Given the description of an element on the screen output the (x, y) to click on. 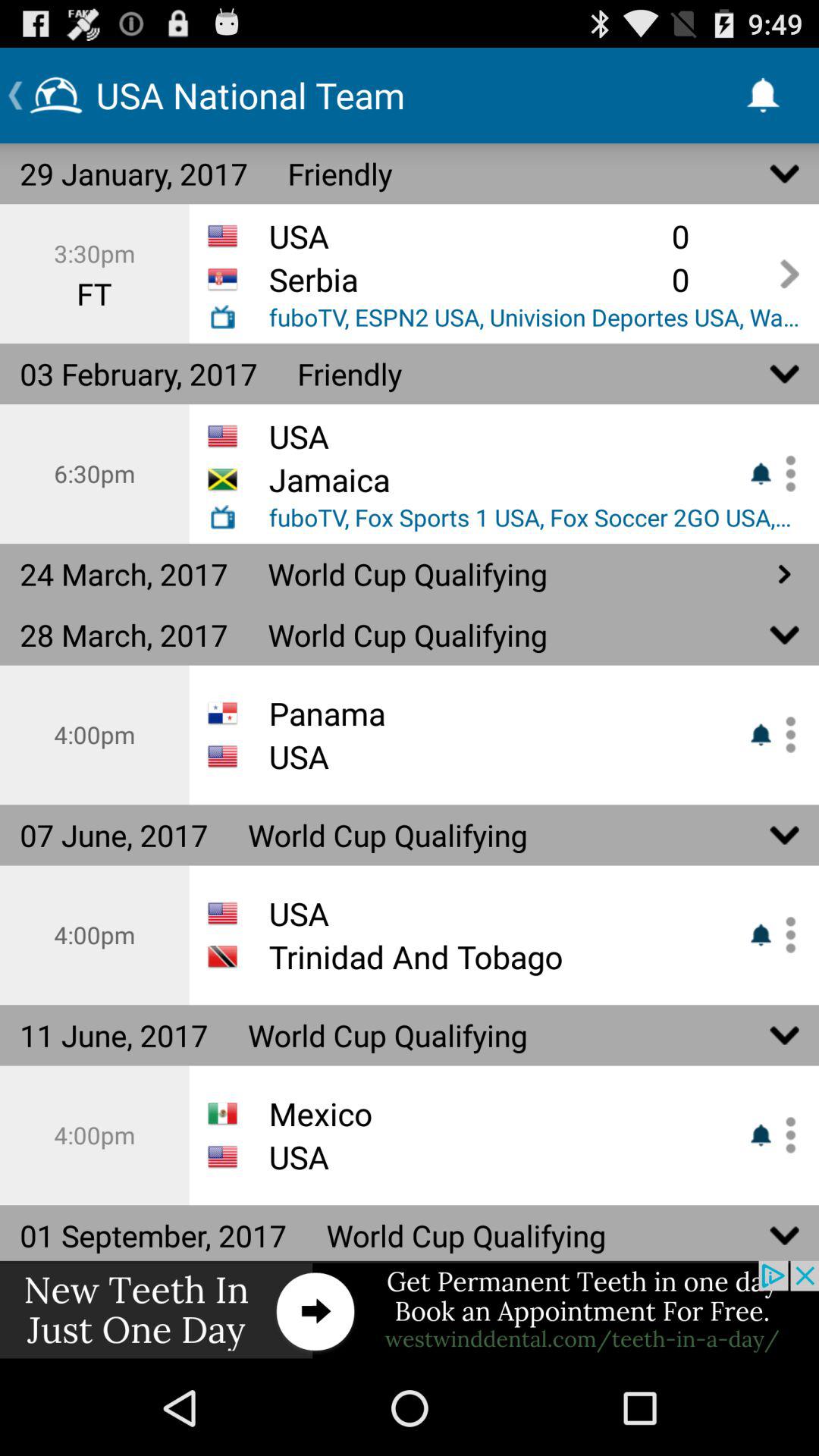
make advertisement (409, 1310)
